Given the description of an element on the screen output the (x, y) to click on. 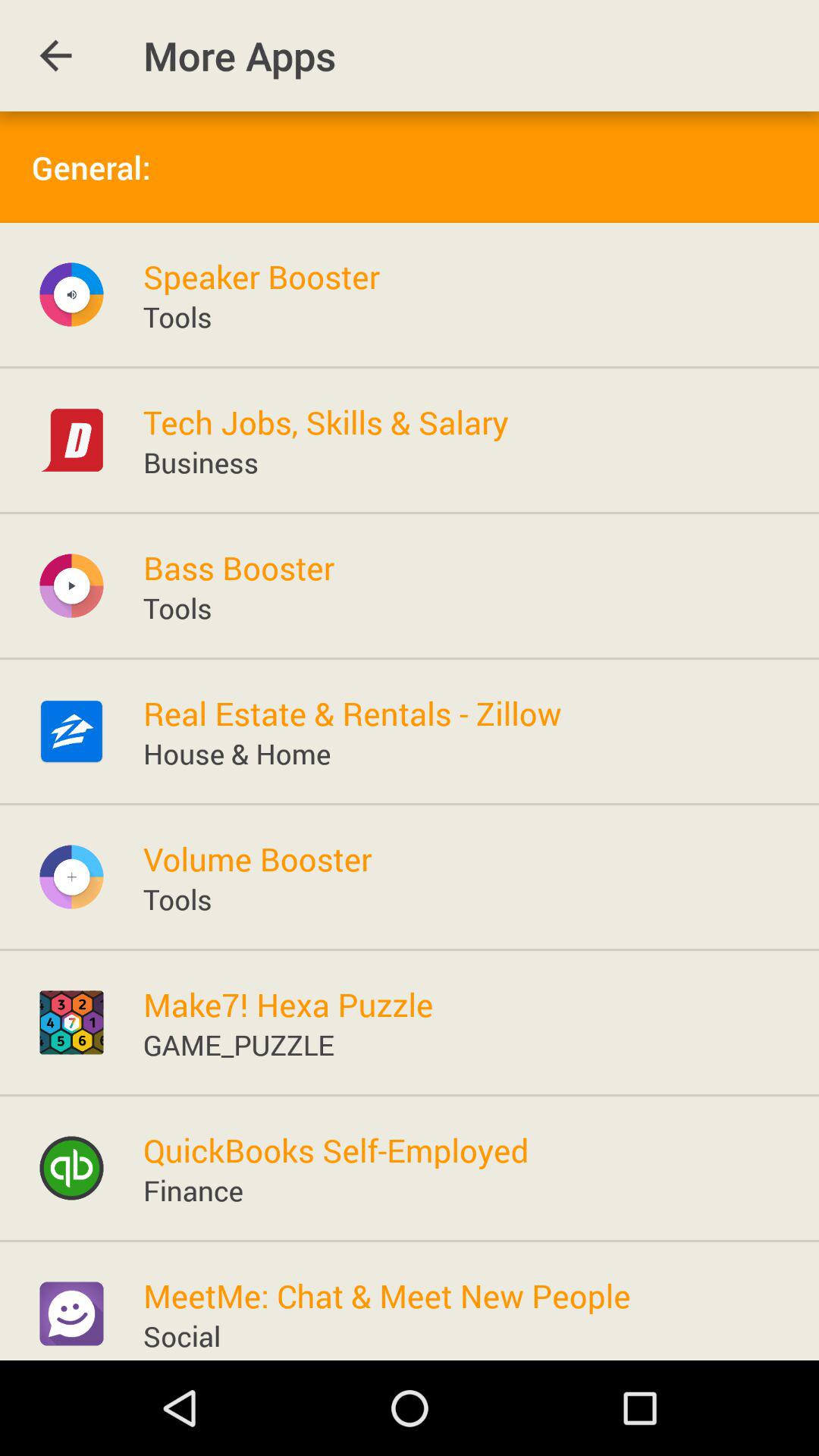
open icon above general: (55, 55)
